Given the description of an element on the screen output the (x, y) to click on. 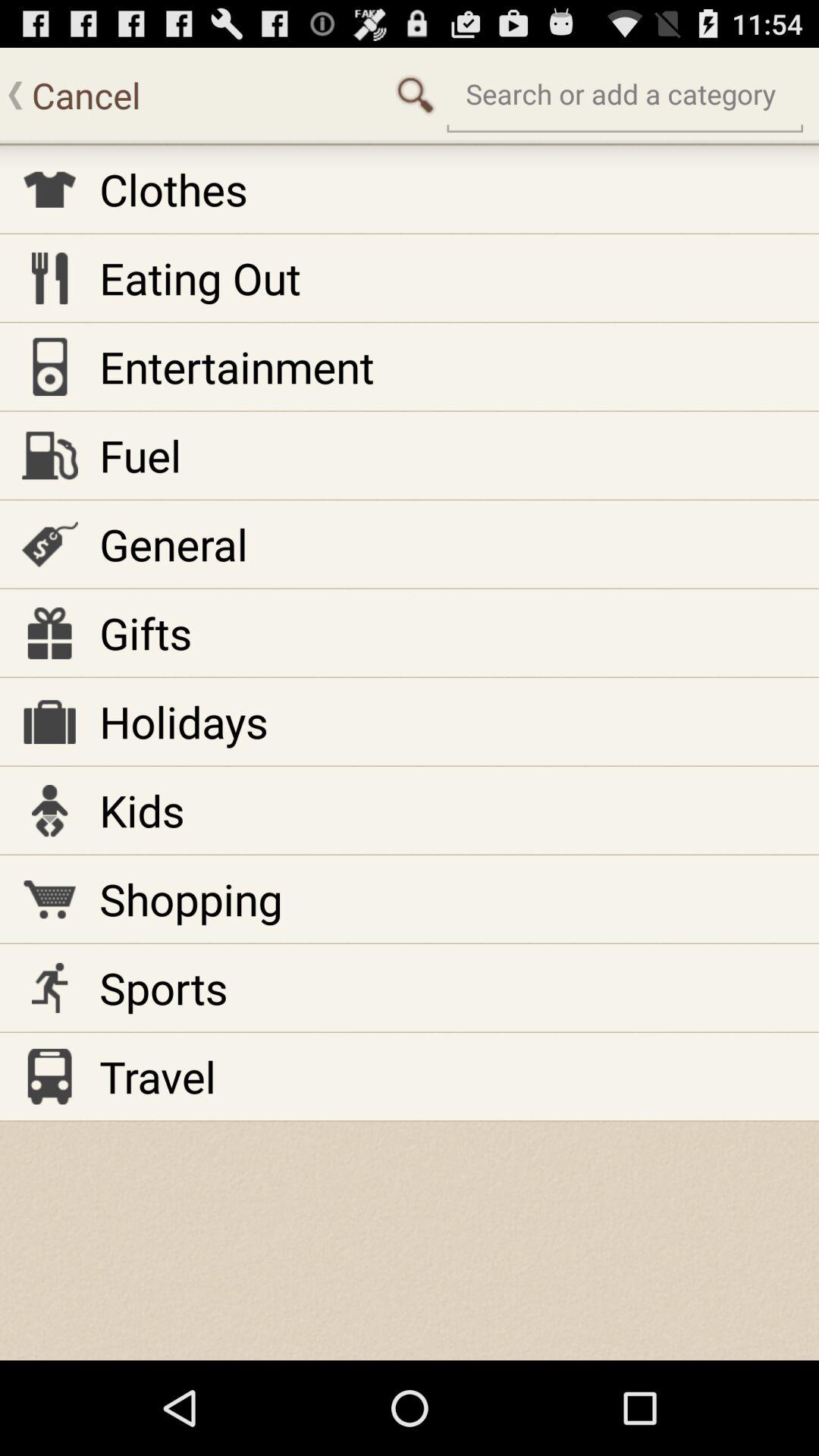
open the general app (173, 544)
